Given the description of an element on the screen output the (x, y) to click on. 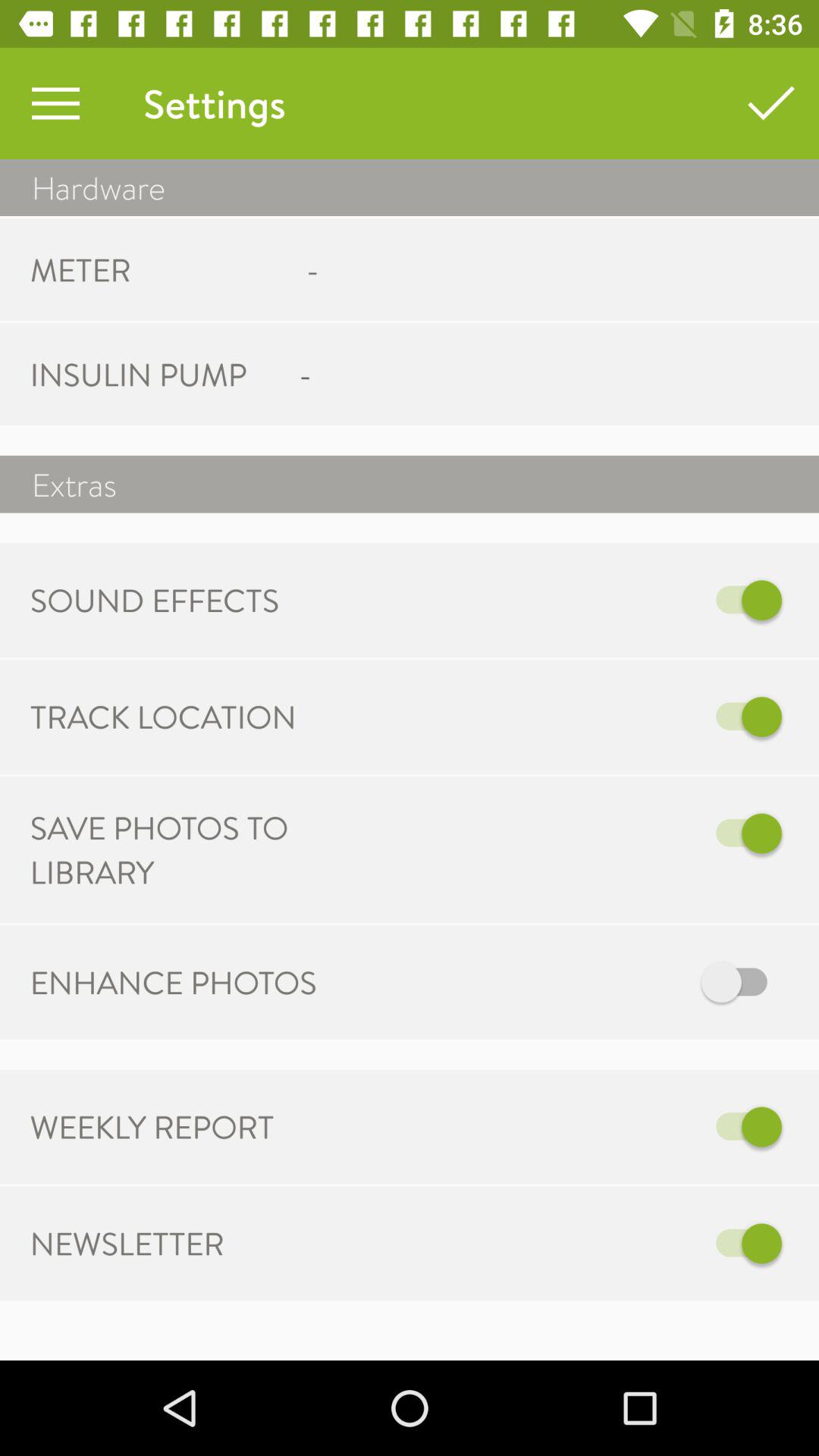
open icon to the right of sound effects icon (622, 600)
